Given the description of an element on the screen output the (x, y) to click on. 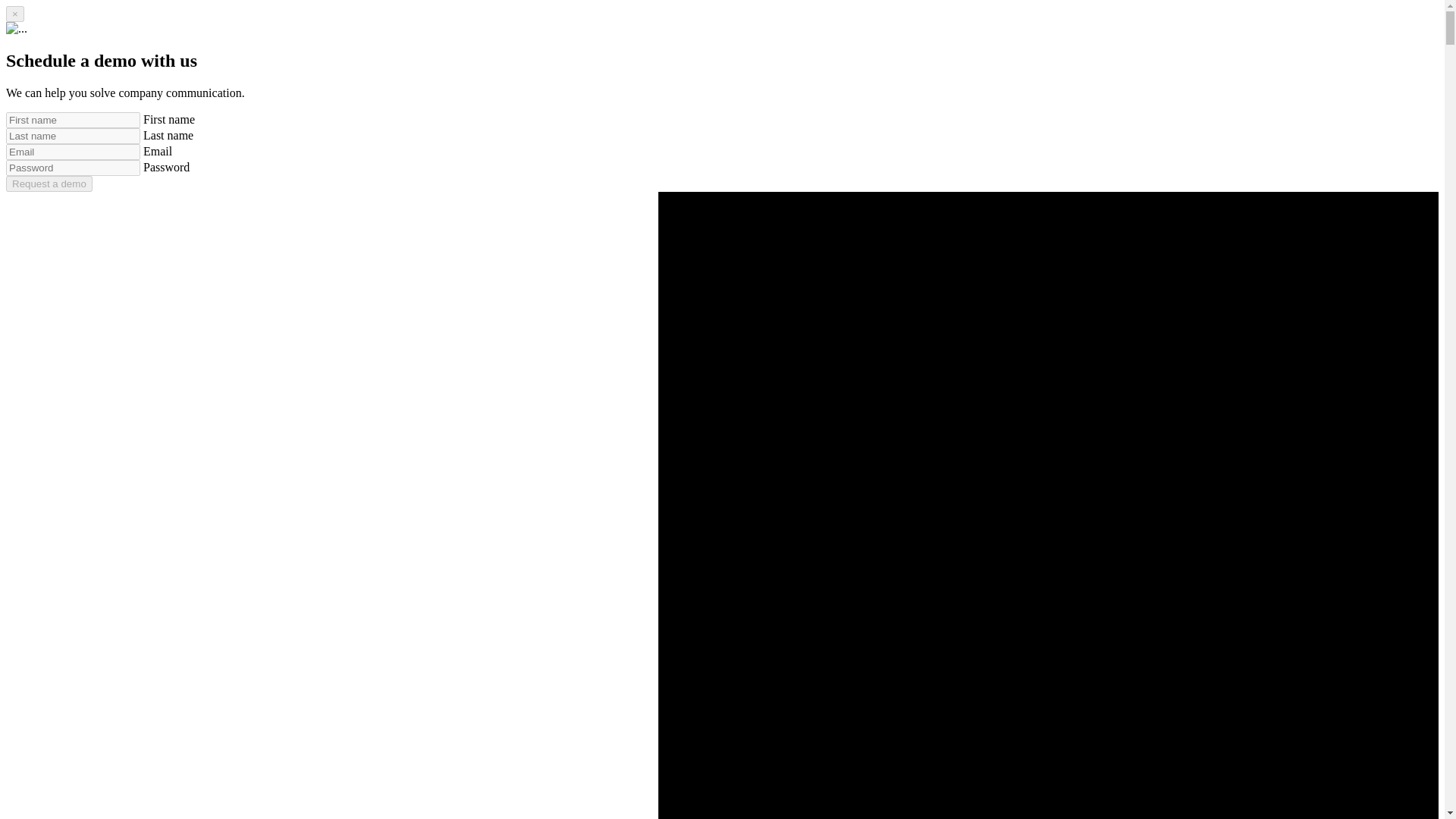
Request a demo (49, 183)
